Given the description of an element on the screen output the (x, y) to click on. 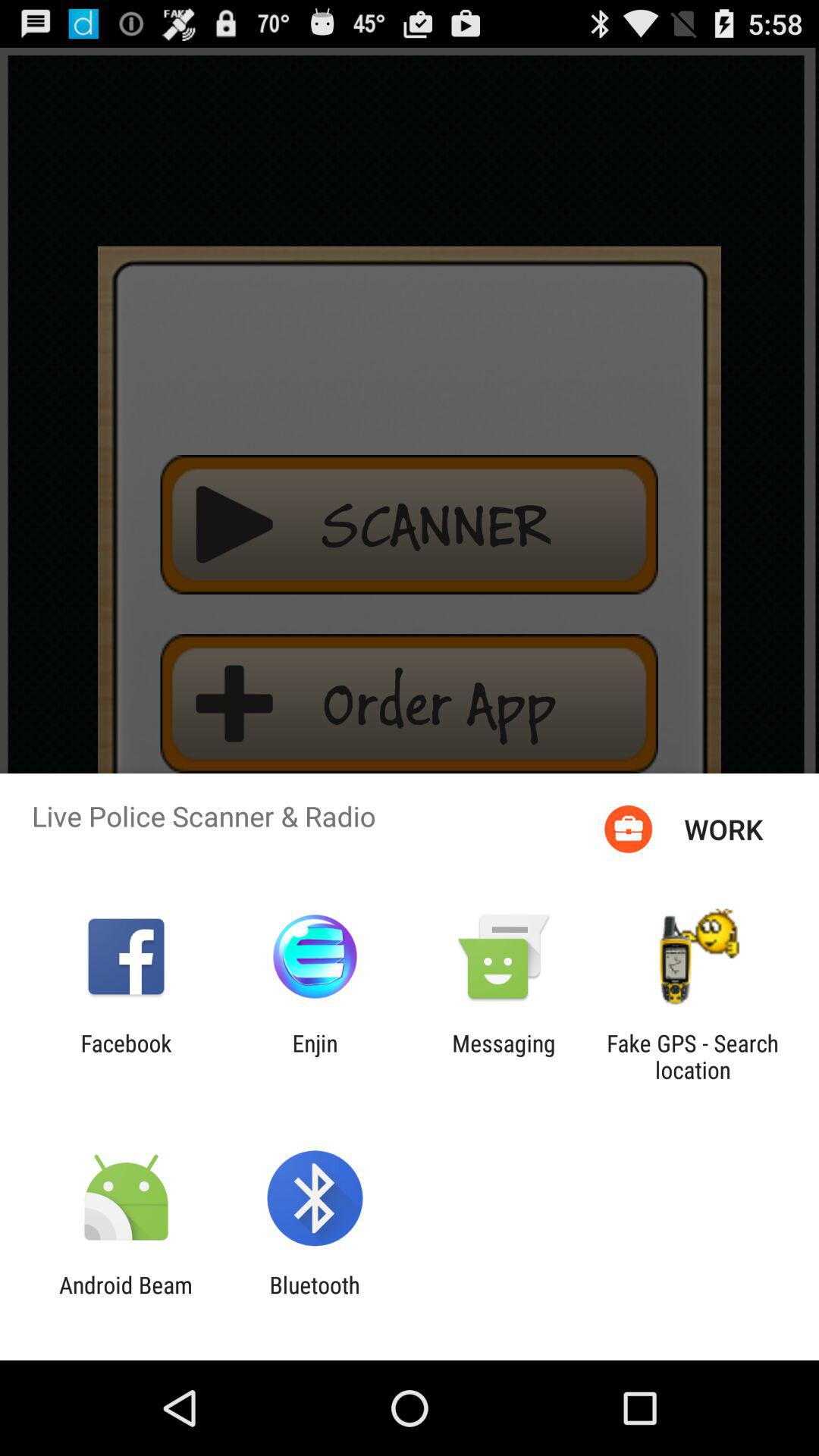
launch icon to the left of the fake gps search app (503, 1056)
